Given the description of an element on the screen output the (x, y) to click on. 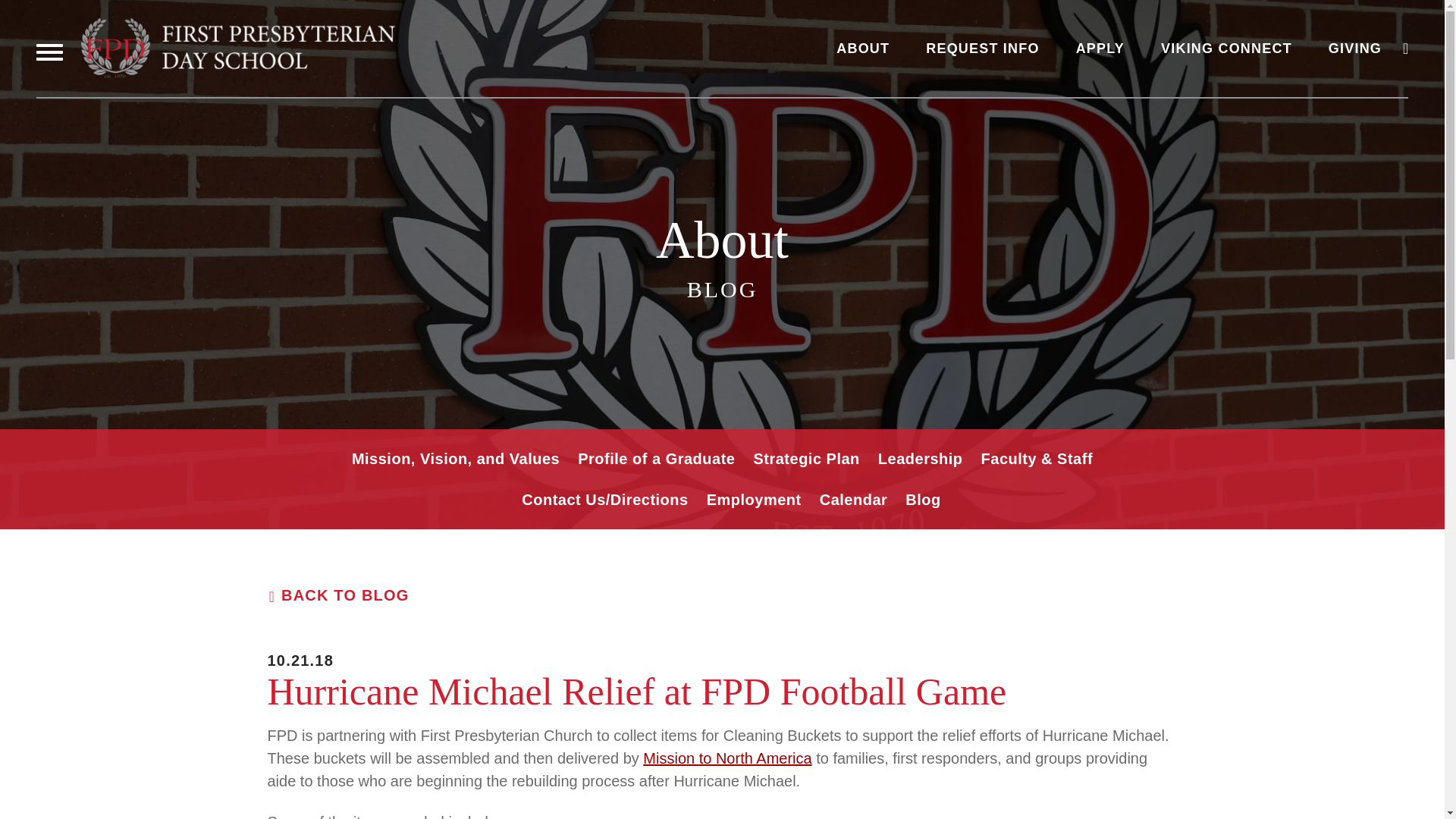
Mission, Vision, and Values (455, 458)
REQUEST INFO (982, 48)
ABOUT (862, 48)
VIKING CONNECT (1226, 48)
Employment (754, 499)
GIVING (1354, 48)
Calendar (853, 499)
Blog (922, 499)
Strategic Plan (805, 458)
APPLY (1099, 48)
